Given the description of an element on the screen output the (x, y) to click on. 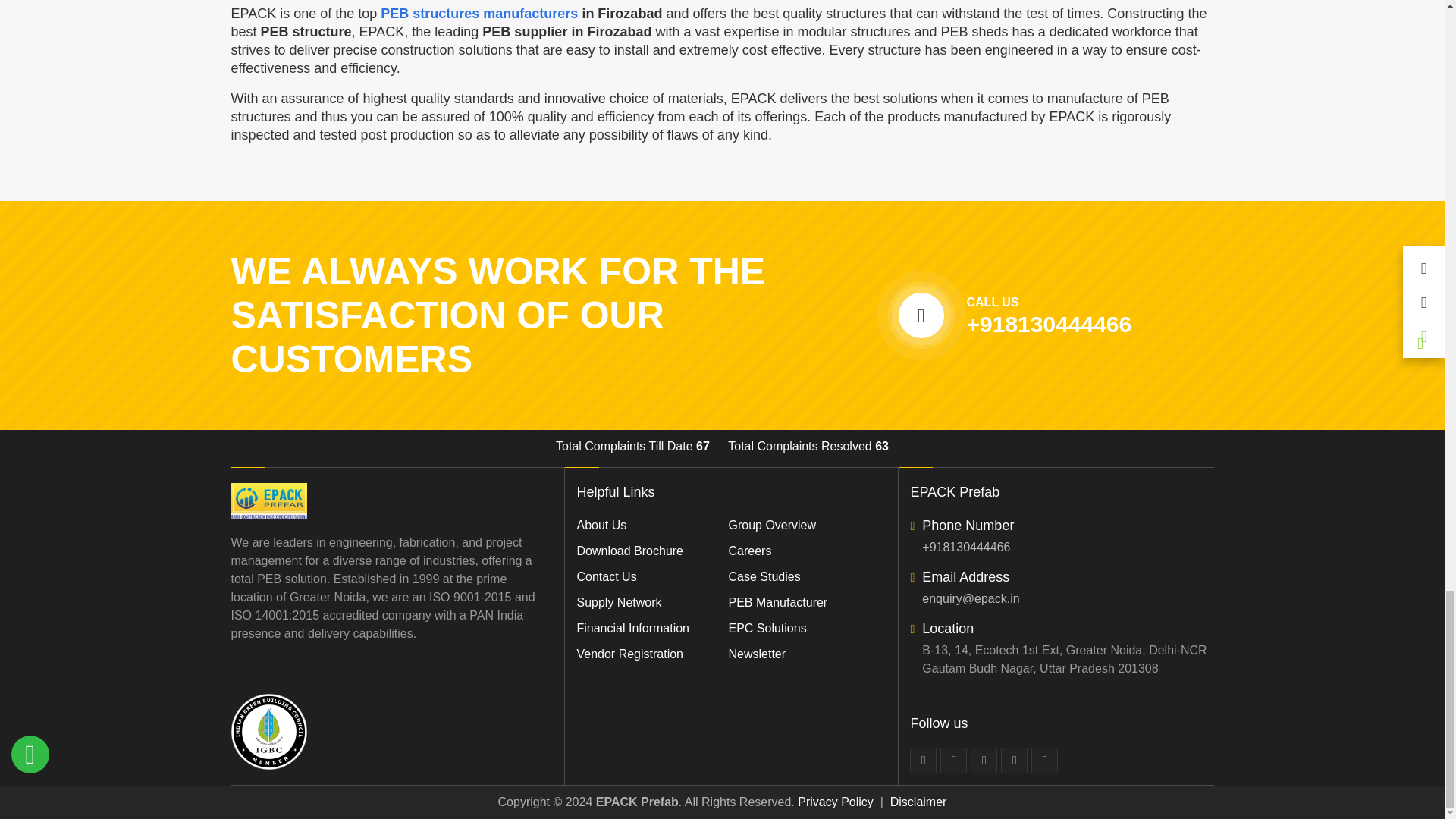
Linkedin (984, 760)
Twitter (953, 760)
Instagram (1044, 760)
Facebook (923, 760)
Youtube (1014, 760)
